Given the description of an element on the screen output the (x, y) to click on. 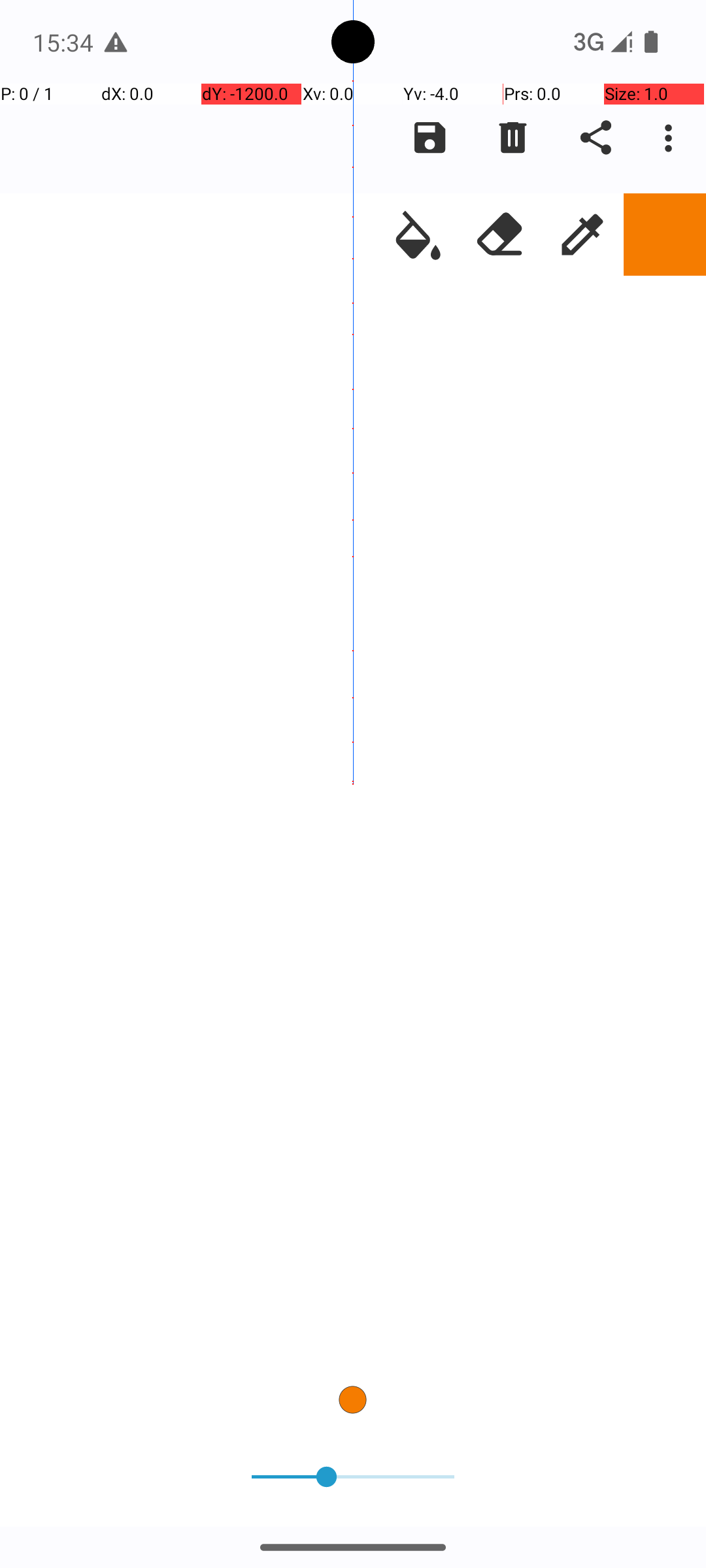
Clear Element type: android.widget.Button (512, 137)
Bucket fill Element type: android.widget.ImageView (417, 234)
Eraser Element type: android.widget.ImageView (499, 234)
Eyedropper Element type: android.widget.ImageView (582, 234)
Change color Element type: android.widget.ImageView (664, 234)
